Given the description of an element on the screen output the (x, y) to click on. 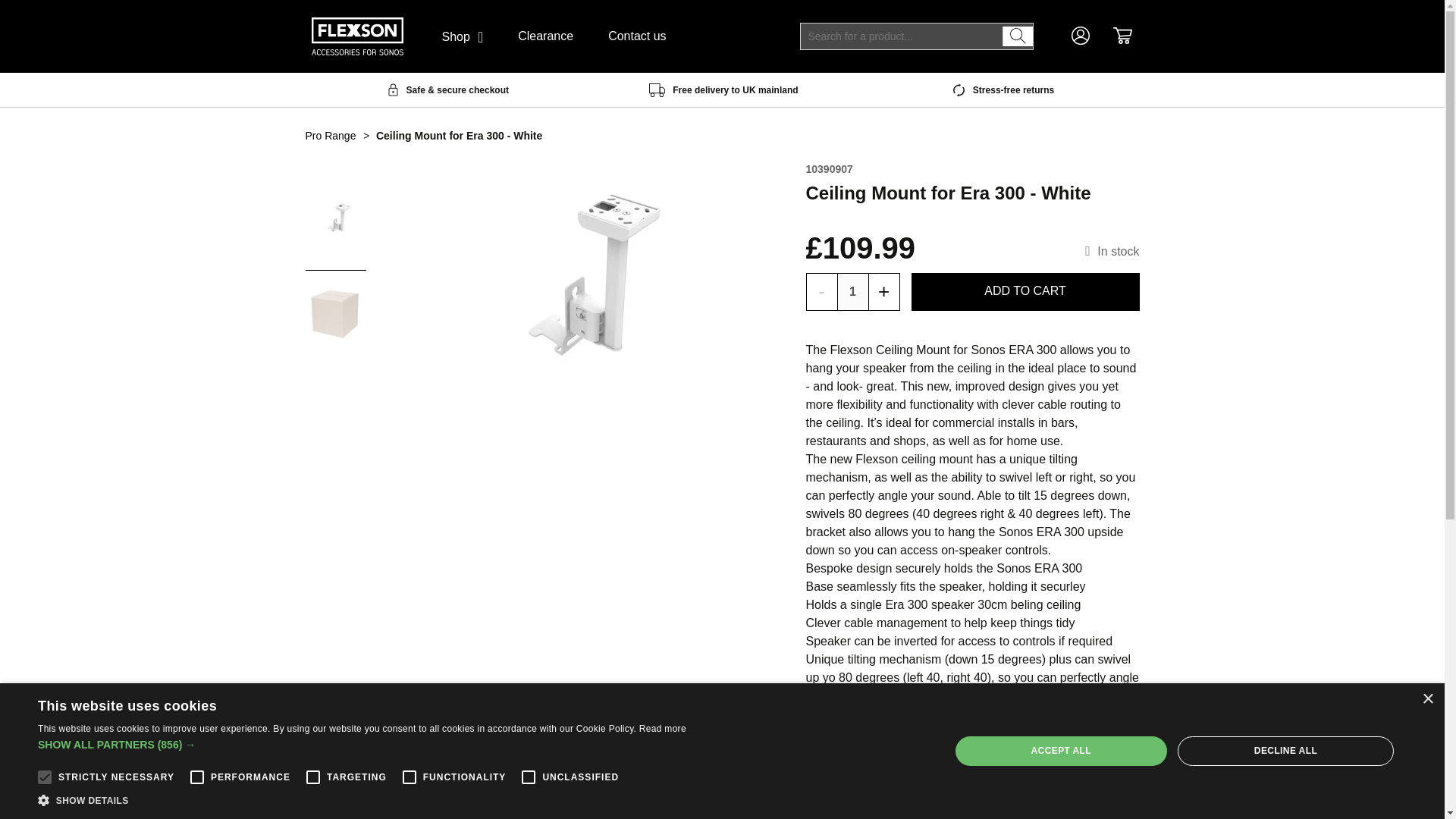
Ceiling Mount for Era 300 - White (334, 219)
Contact us (636, 36)
Read more (662, 728)
ADD TO CART (1025, 291)
Ceiling Mount for Era 300 - White (334, 313)
Clearance (545, 36)
Pro Range (329, 135)
Ceiling Mount for Era 300 - White (577, 284)
1 (852, 291)
